Given the description of an element on the screen output the (x, y) to click on. 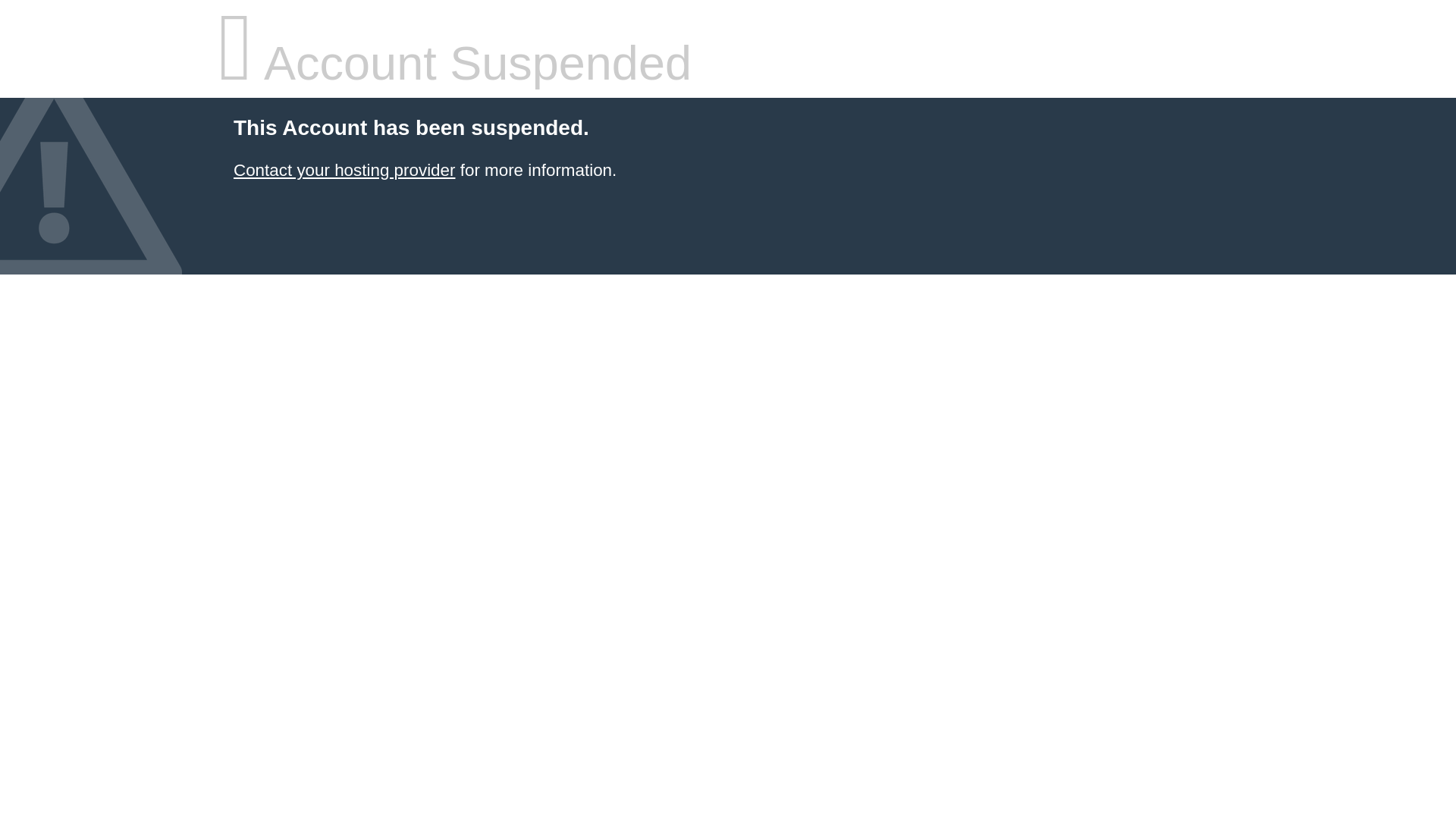
Contact your hosting provider (343, 169)
